Given the description of an element on the screen output the (x, y) to click on. 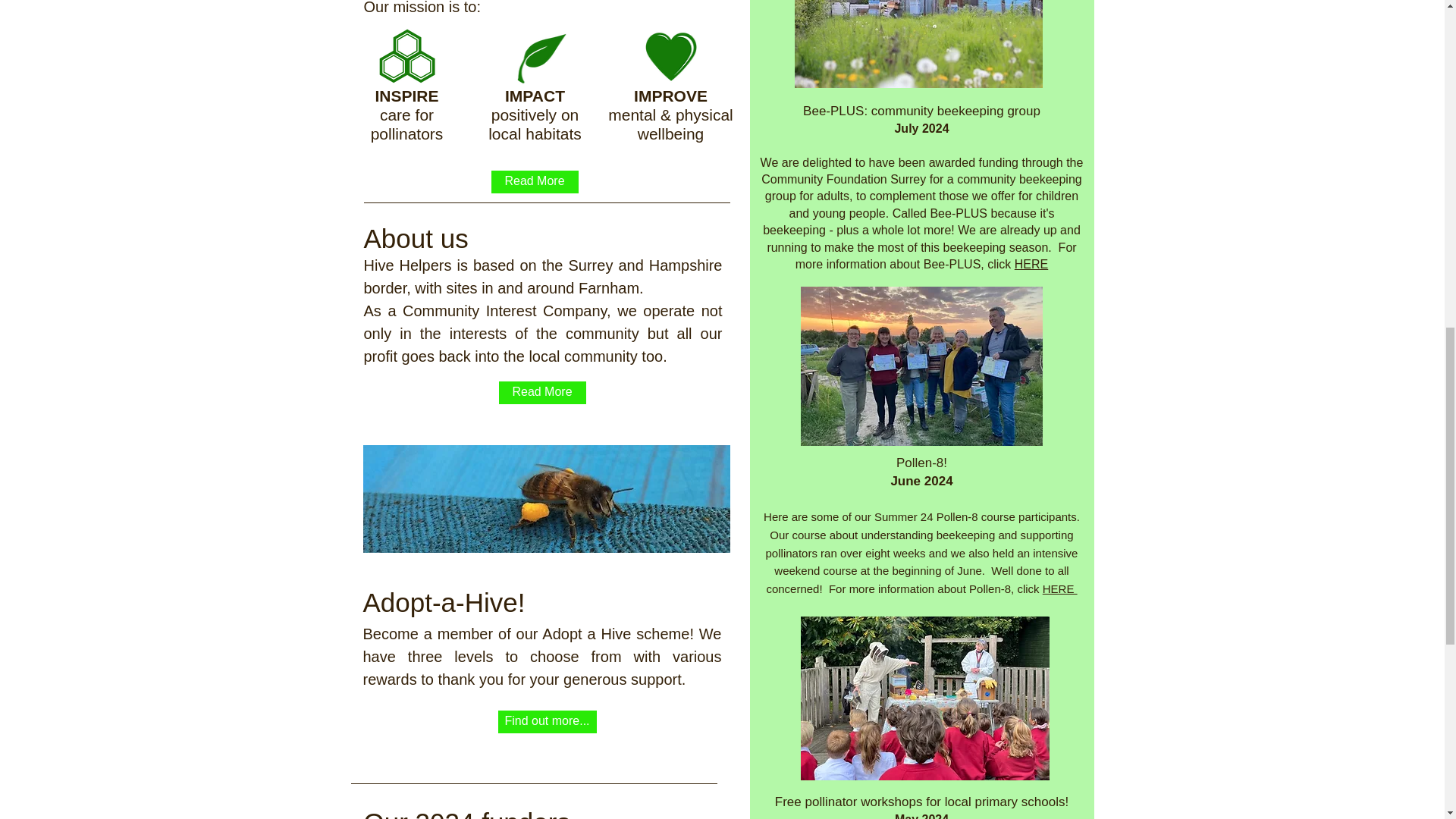
HERE  (1059, 588)
Read More (542, 392)
Read More (535, 181)
HERE (1031, 264)
Find out more... (546, 721)
